Given the description of an element on the screen output the (x, y) to click on. 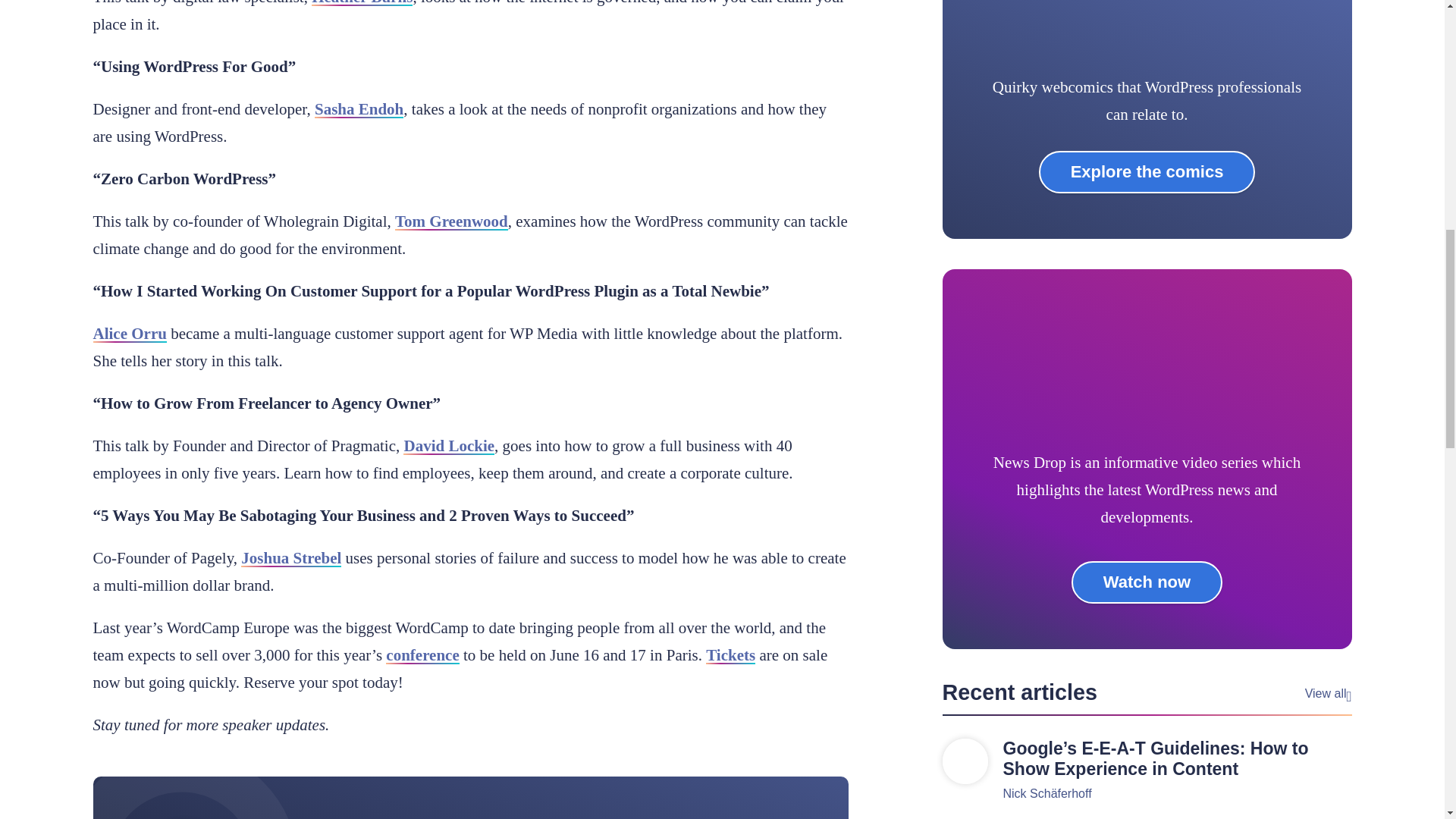
conference (421, 655)
Heather Burns (361, 2)
Watch now (1147, 582)
Explore the comics (1147, 171)
David Lockie (449, 445)
Sasha Endoh (358, 108)
Alice Orru (129, 333)
Tom Greenwood (451, 221)
Tickets (730, 655)
Joshua Strebel (290, 557)
